Given the description of an element on the screen output the (x, y) to click on. 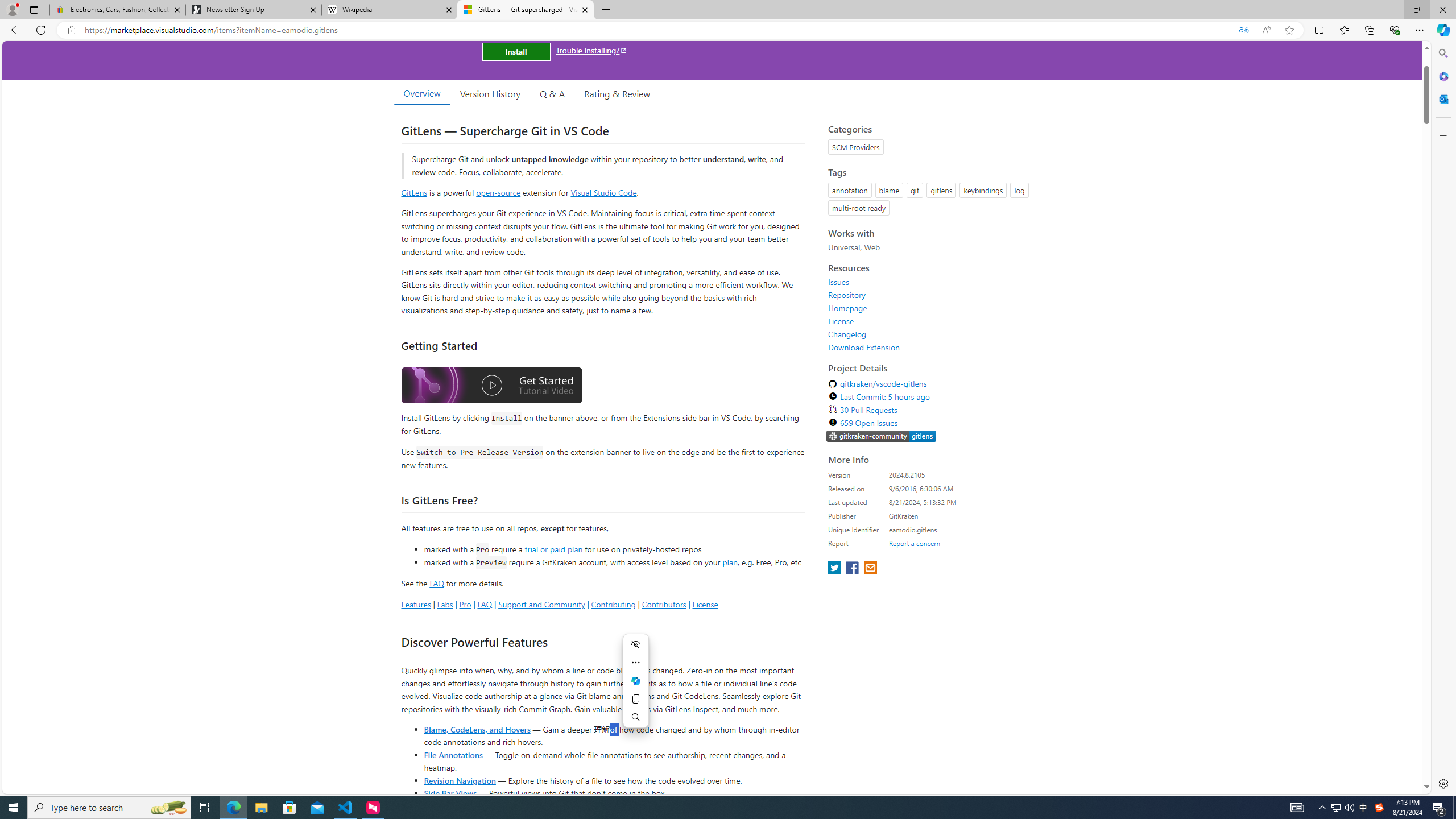
Contributors (663, 603)
share extension on facebook (853, 568)
Visual Studio Code (603, 192)
Features (415, 603)
open-source (498, 192)
